Given the description of an element on the screen output the (x, y) to click on. 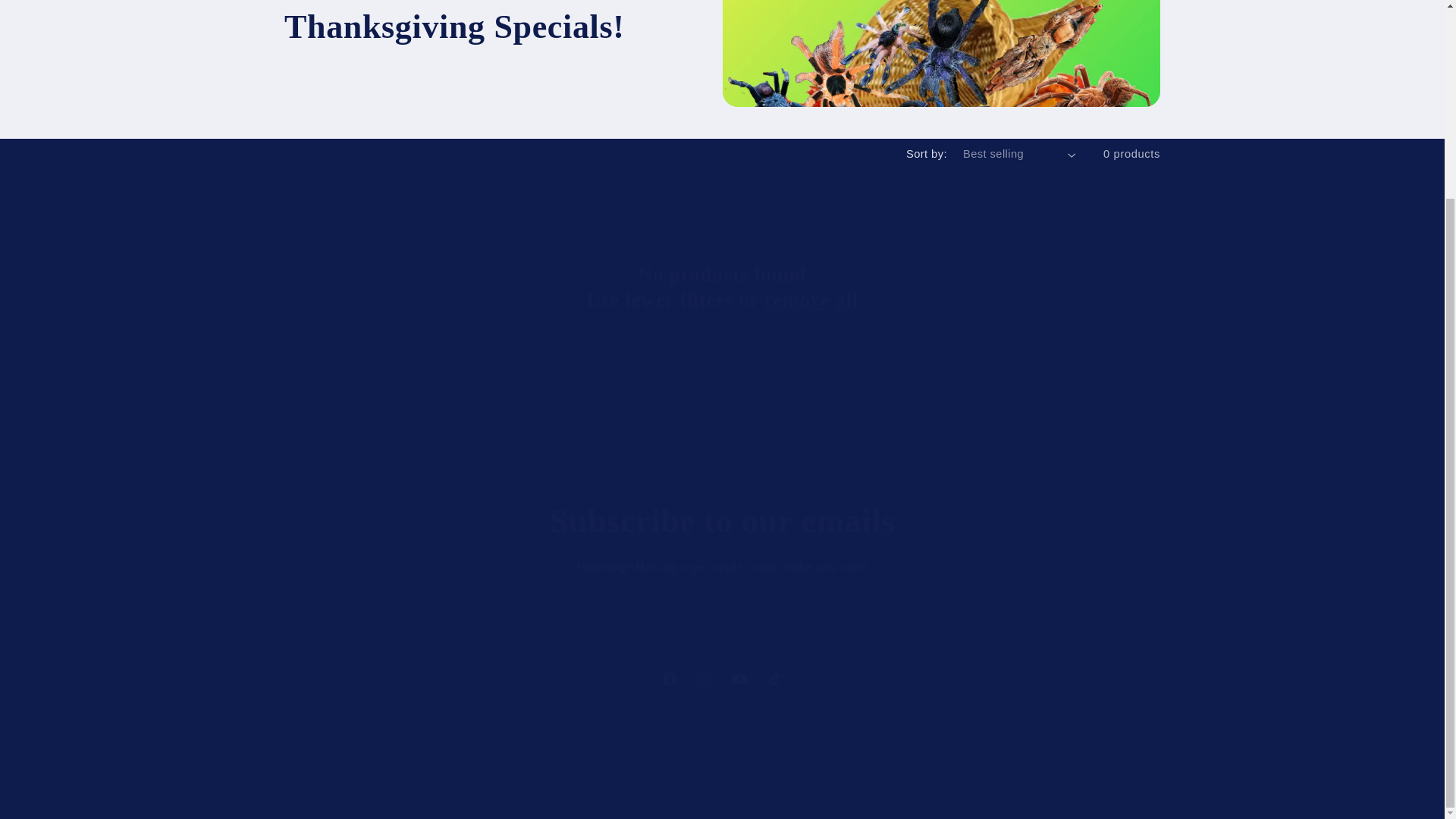
Warning! Having a pet spider may make you cool! (721, 53)
Email (722, 566)
Subscribe to our emails (722, 609)
